Given the description of an element on the screen output the (x, y) to click on. 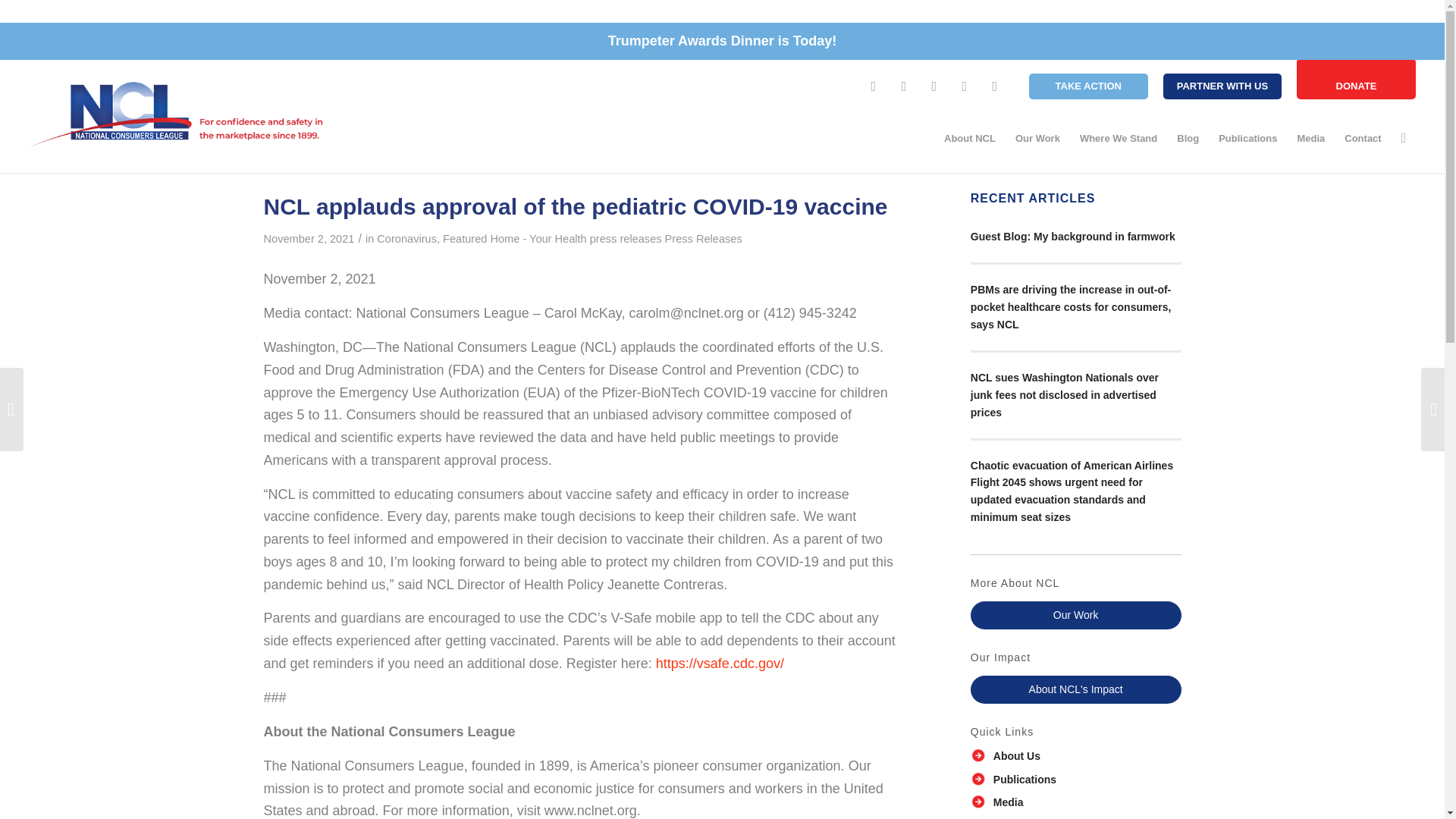
About NCL (970, 138)
Twitter (903, 86)
PARTNER WITH US (1222, 86)
NCL-logo (176, 114)
Publications (1247, 138)
Instagram (933, 86)
Facebook (873, 86)
Youtube (964, 86)
Where We Stand (1118, 138)
TAKE ACTION (1088, 86)
Our Work (1038, 138)
DONATE (1356, 78)
LinkedIn (995, 86)
